Given the description of an element on the screen output the (x, y) to click on. 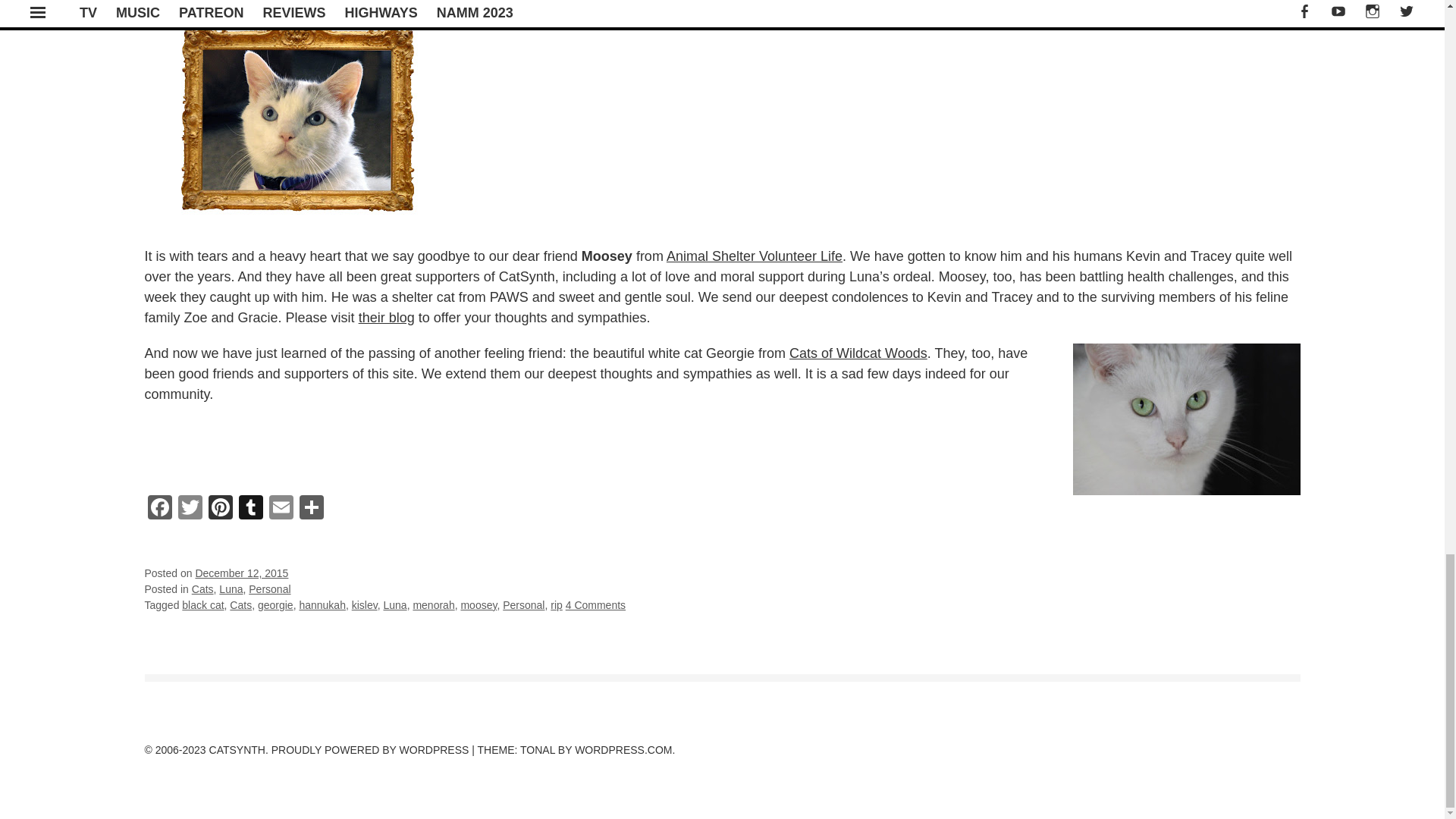
Facebook (159, 509)
Tumblr (249, 509)
Email (279, 509)
Pinterest (219, 509)
Twitter (189, 509)
